Given the description of an element on the screen output the (x, y) to click on. 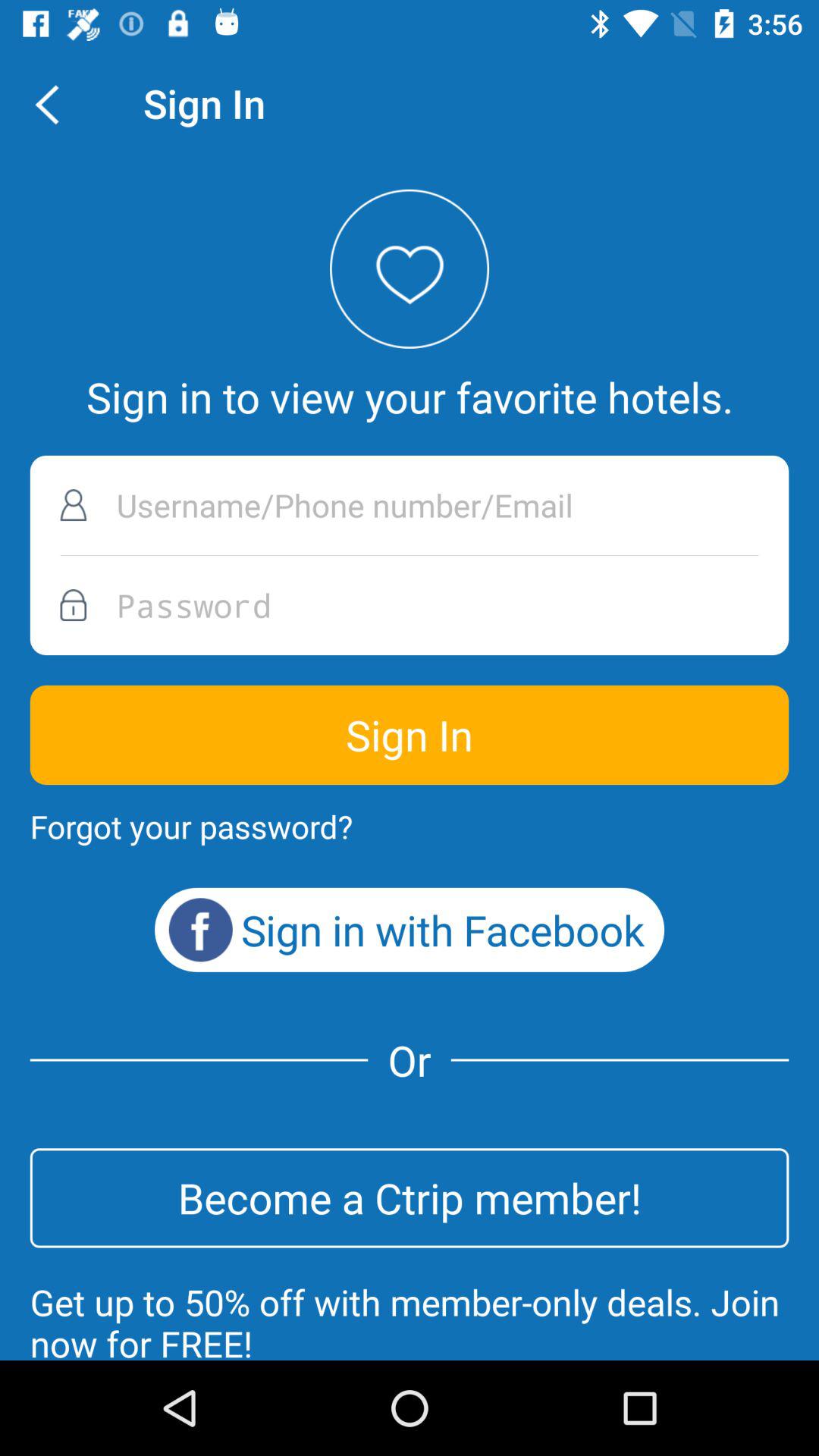
oggle autoplay option (409, 505)
